Given the description of an element on the screen output the (x, y) to click on. 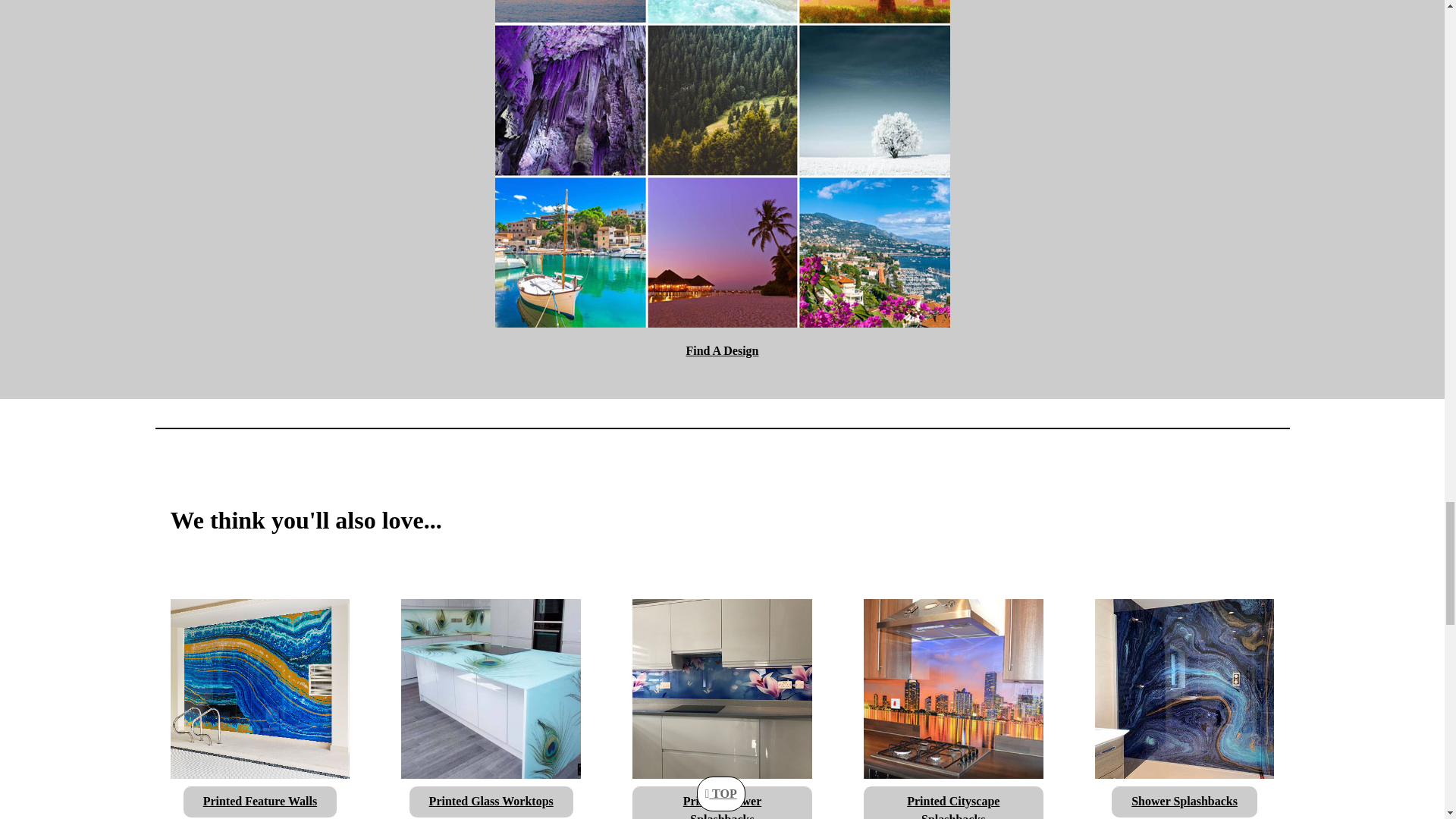
Creo Glass (490, 686)
Creo Glass (721, 686)
Creo Glass (722, 98)
Creo Glass (1184, 686)
Creo Glass (259, 686)
Creo Glass (953, 686)
